Given the description of an element on the screen output the (x, y) to click on. 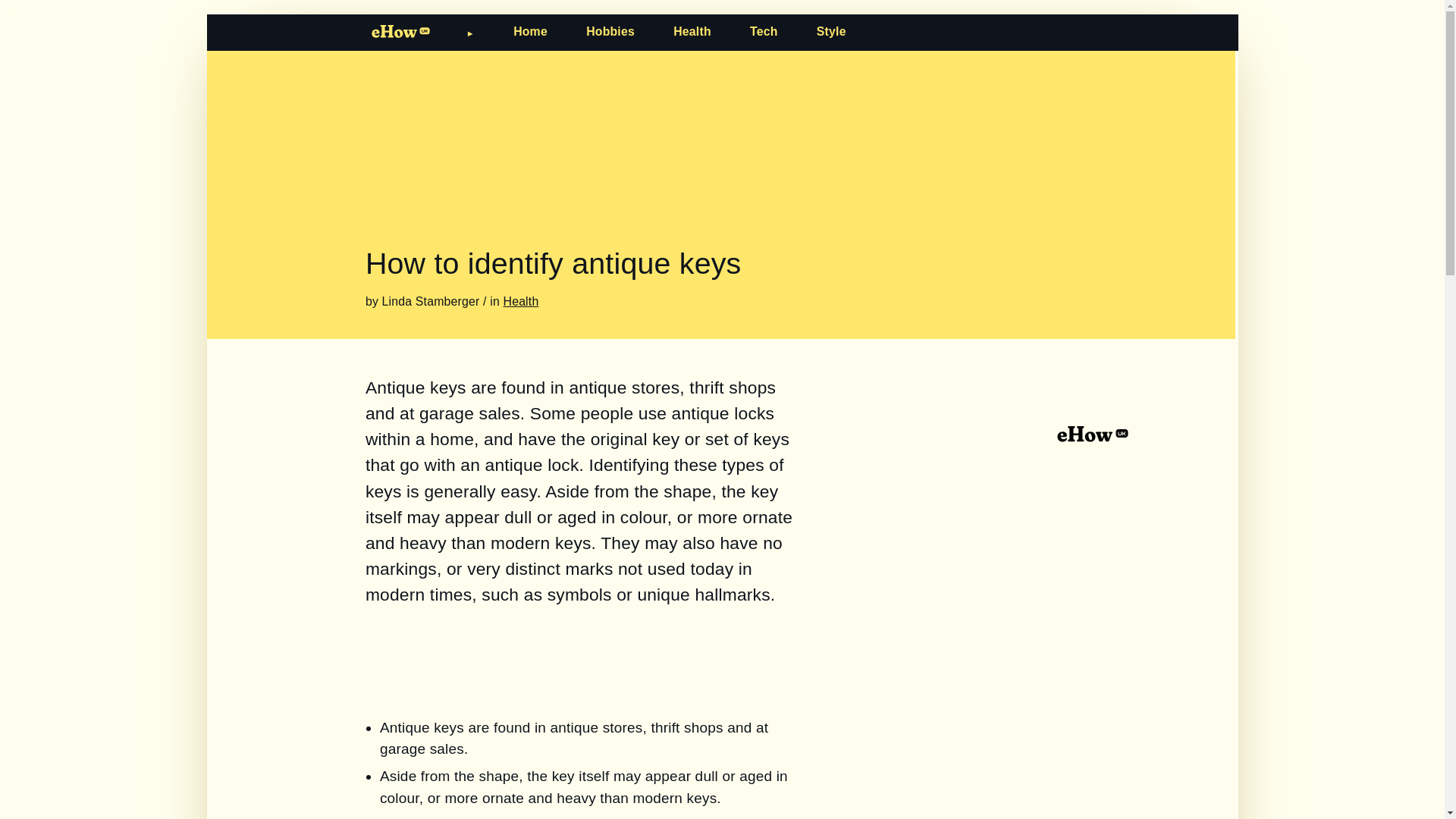
Health (520, 300)
Hobbies (610, 31)
Tech (763, 31)
Health (691, 31)
Home (530, 31)
Style (830, 31)
